Given the description of an element on the screen output the (x, y) to click on. 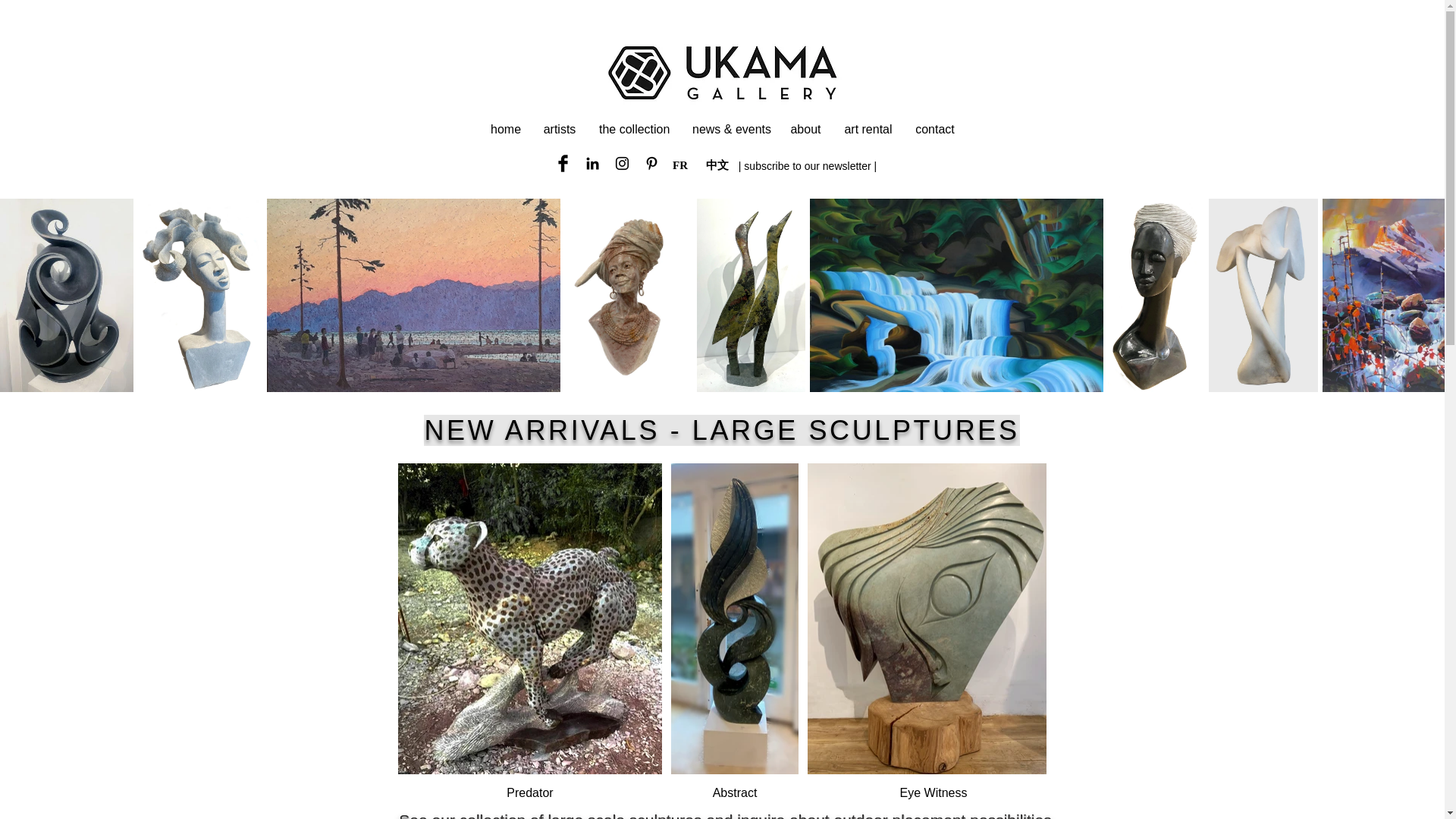
the collection (634, 129)
art rental (505, 129)
FR (868, 129)
Ukama logo.jpg (680, 165)
contact (721, 72)
artists (935, 129)
